Given the description of an element on the screen output the (x, y) to click on. 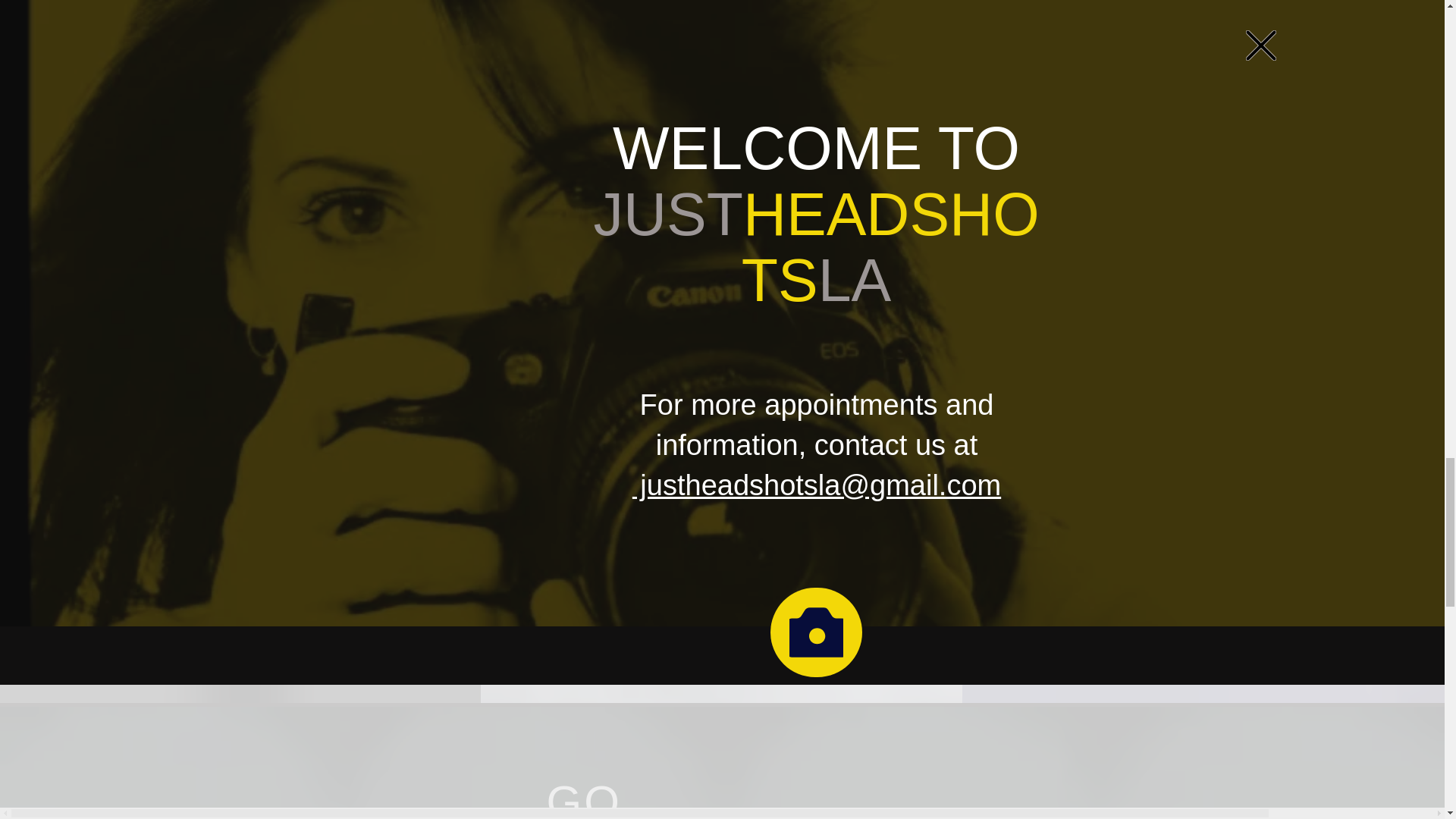
VIEW KIDS GALLERY (278, 637)
WOMEN (1028, 48)
